Given the description of an element on the screen output the (x, y) to click on. 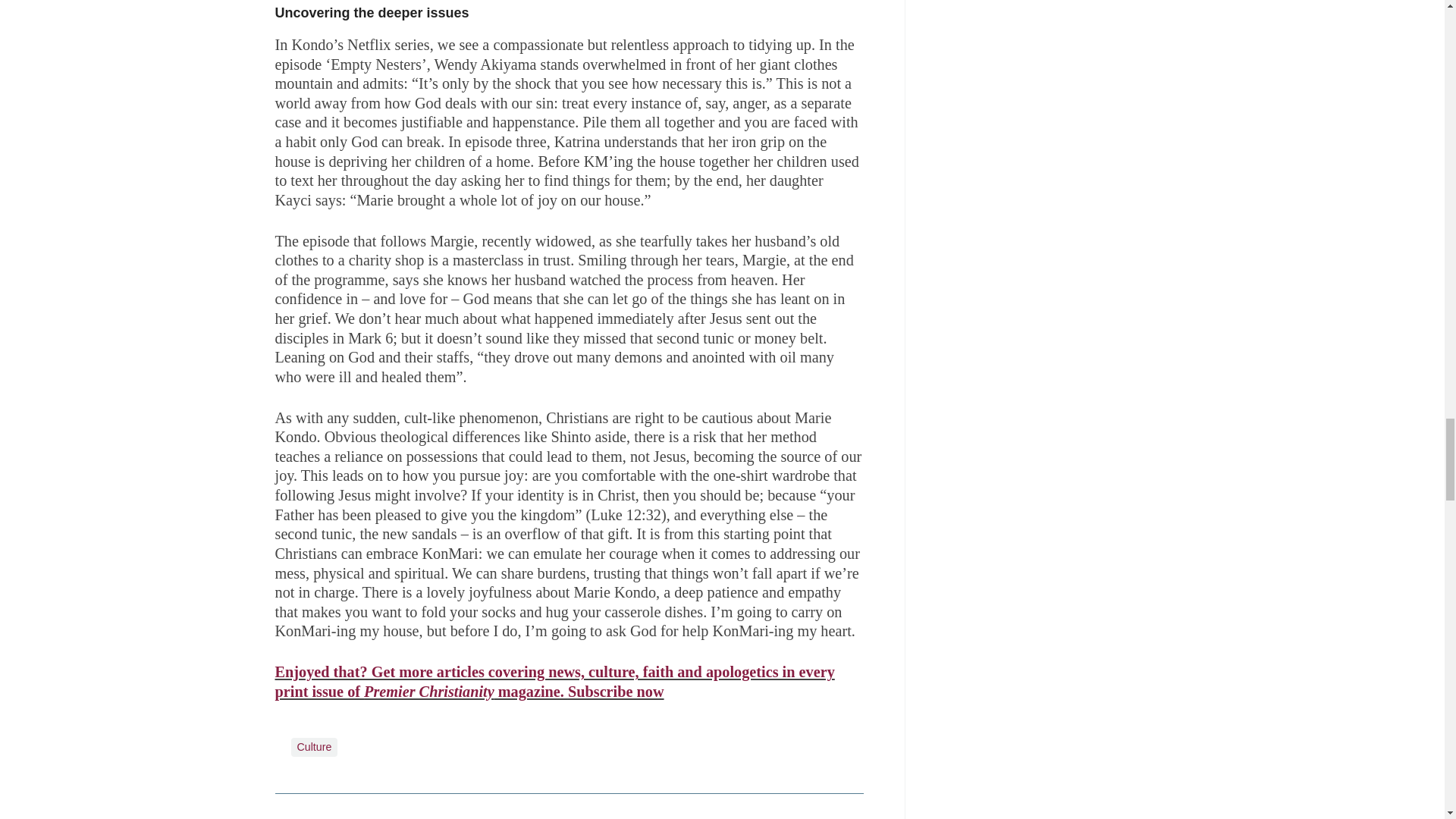
Email this article (386, 810)
Share this on Twitter (320, 810)
Share this on Facebook (288, 810)
Share this on Linked in (352, 810)
